Given the description of an element on the screen output the (x, y) to click on. 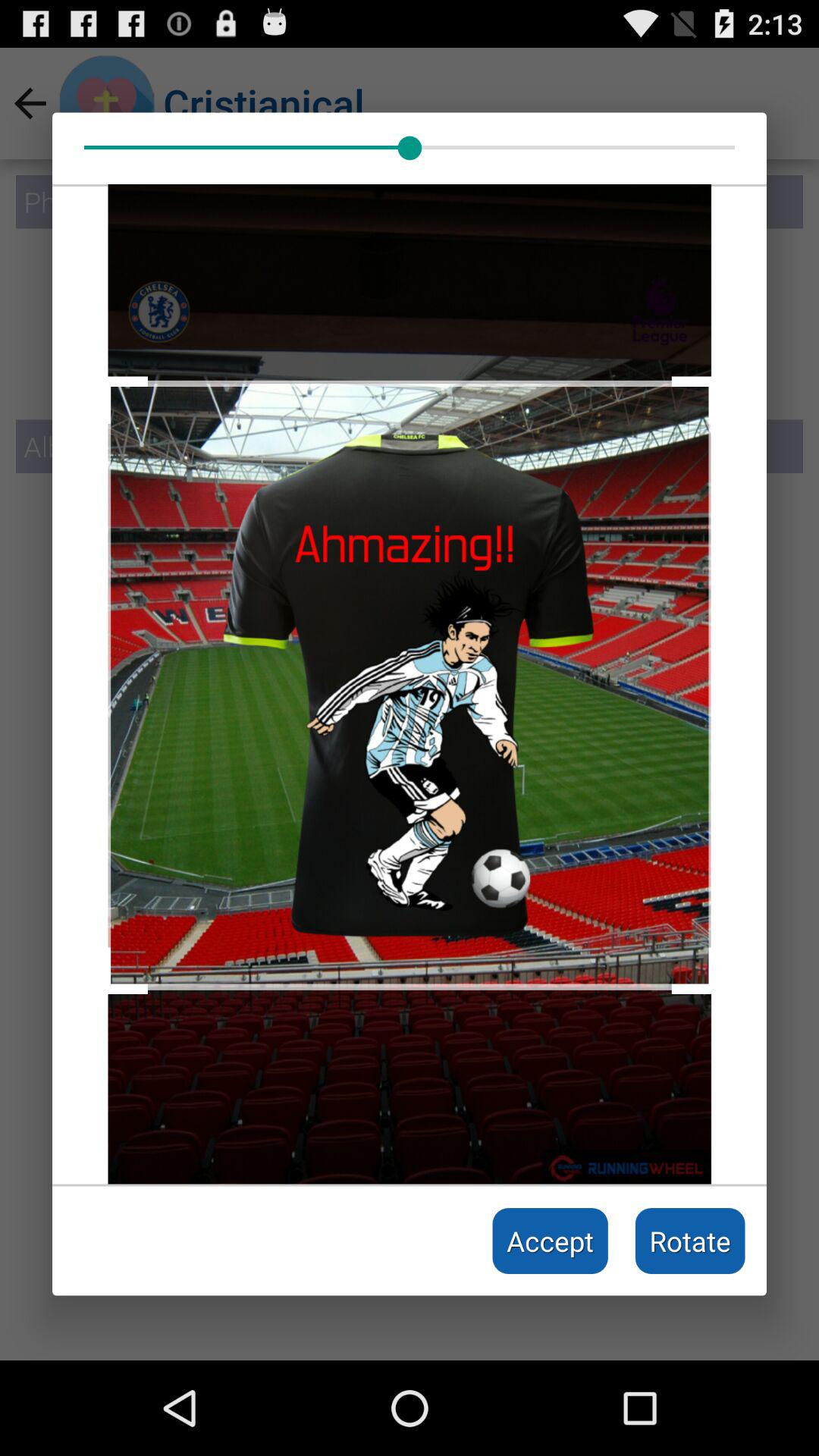
turn on the item to the right of accept item (689, 1240)
